Given the description of an element on the screen output the (x, y) to click on. 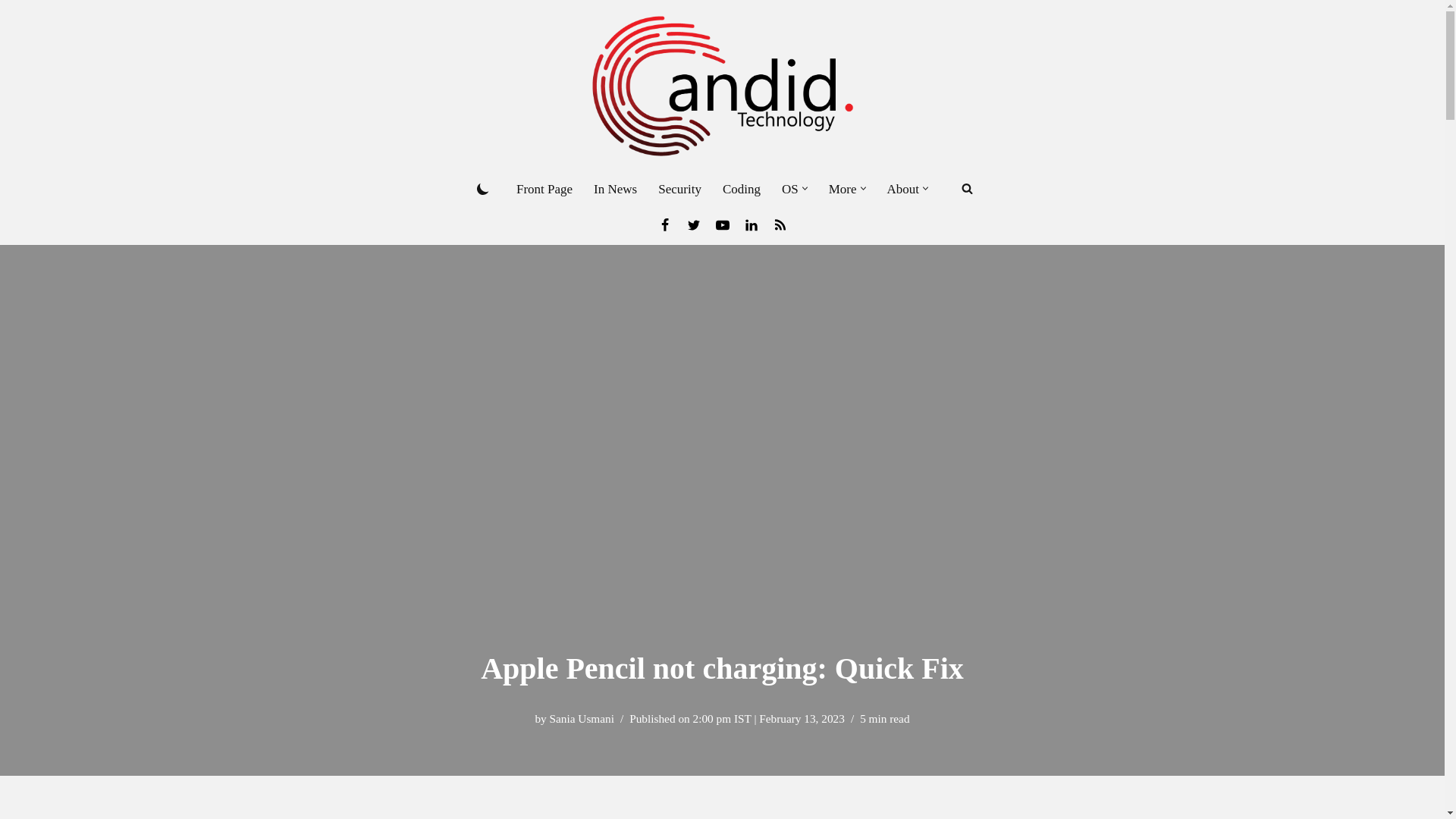
Linkedin (750, 224)
Security (679, 188)
Facebook (664, 224)
More (842, 188)
In News (615, 188)
Coding (741, 188)
News (779, 224)
Skip to content (11, 31)
Twitter (692, 224)
Front Page (544, 188)
